Given the description of an element on the screen output the (x, y) to click on. 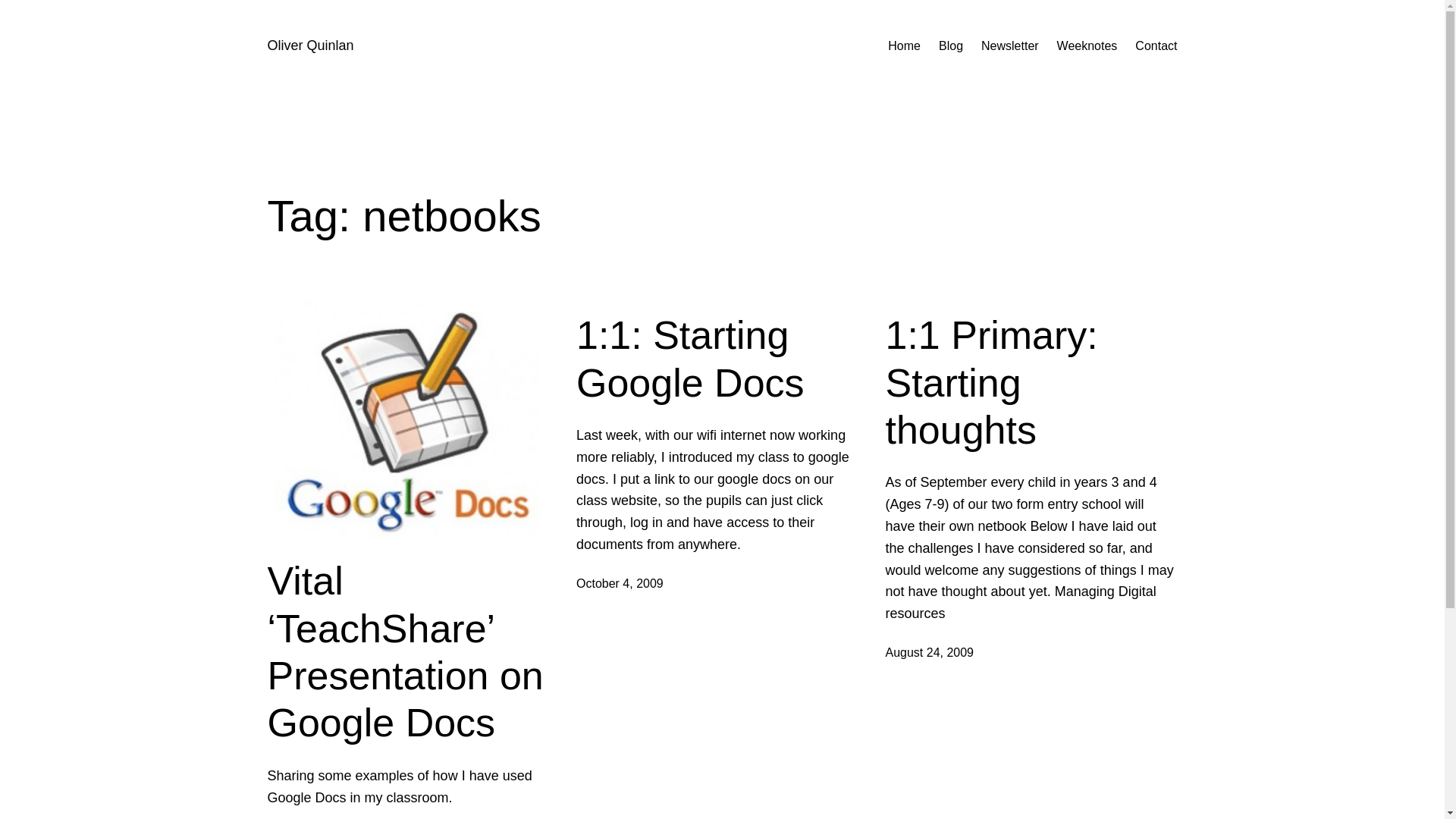
1:1 Primary: Starting thoughts (1030, 382)
October 4, 2009 (619, 583)
Weeknotes (1087, 46)
Blog (950, 46)
Oliver Quinlan (309, 45)
Home (904, 46)
Contact (1155, 46)
August 24, 2009 (929, 652)
1:1: Starting Google Docs (721, 359)
Newsletter (1010, 46)
